Given the description of an element on the screen output the (x, y) to click on. 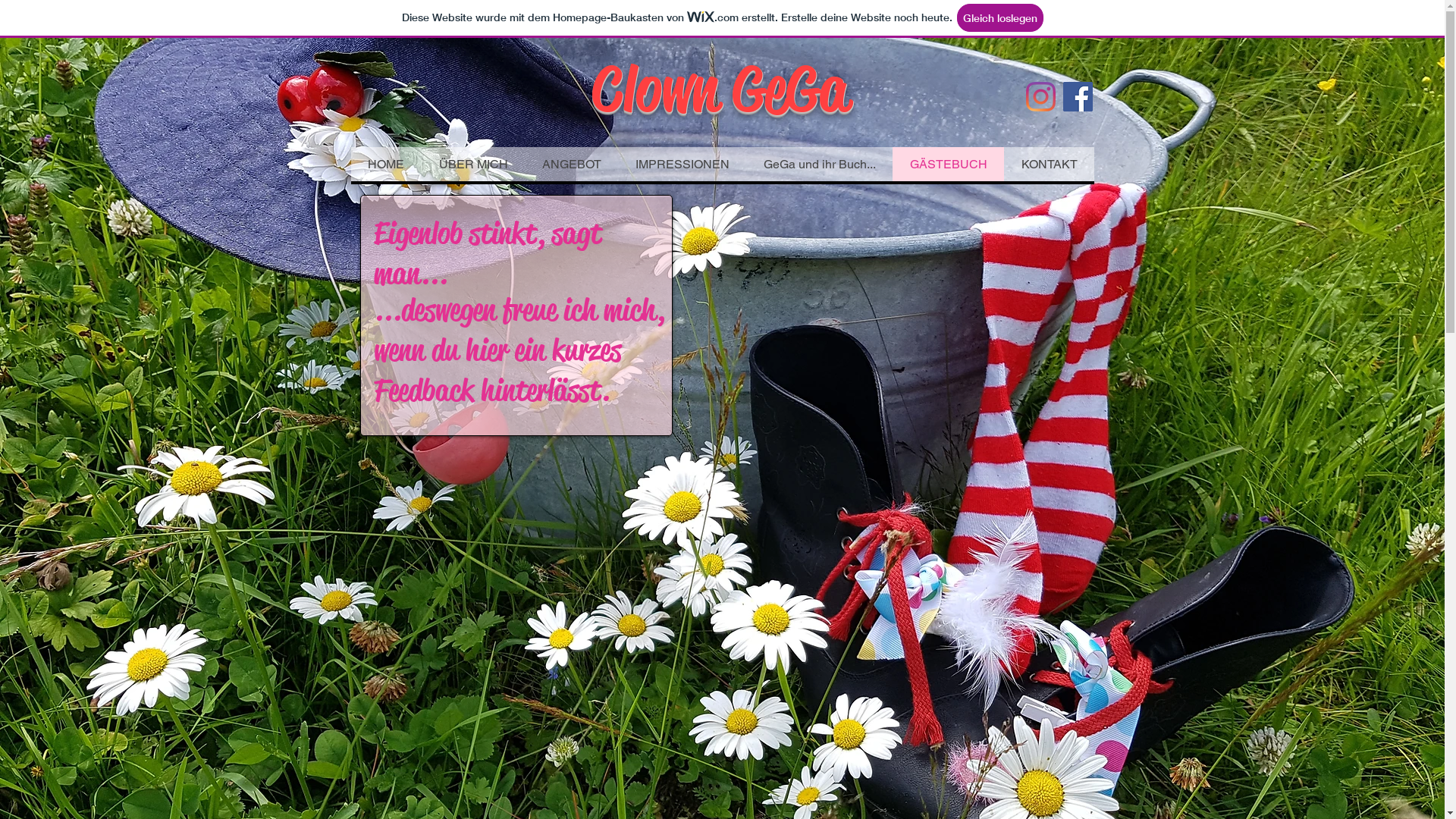
IMPRESSIONEN Element type: text (681, 164)
KONTAKT Element type: text (1049, 164)
HOME Element type: text (385, 164)
ANGEBOT Element type: text (571, 164)
GeGa und ihr Buch... Element type: text (819, 164)
